Given the description of an element on the screen output the (x, y) to click on. 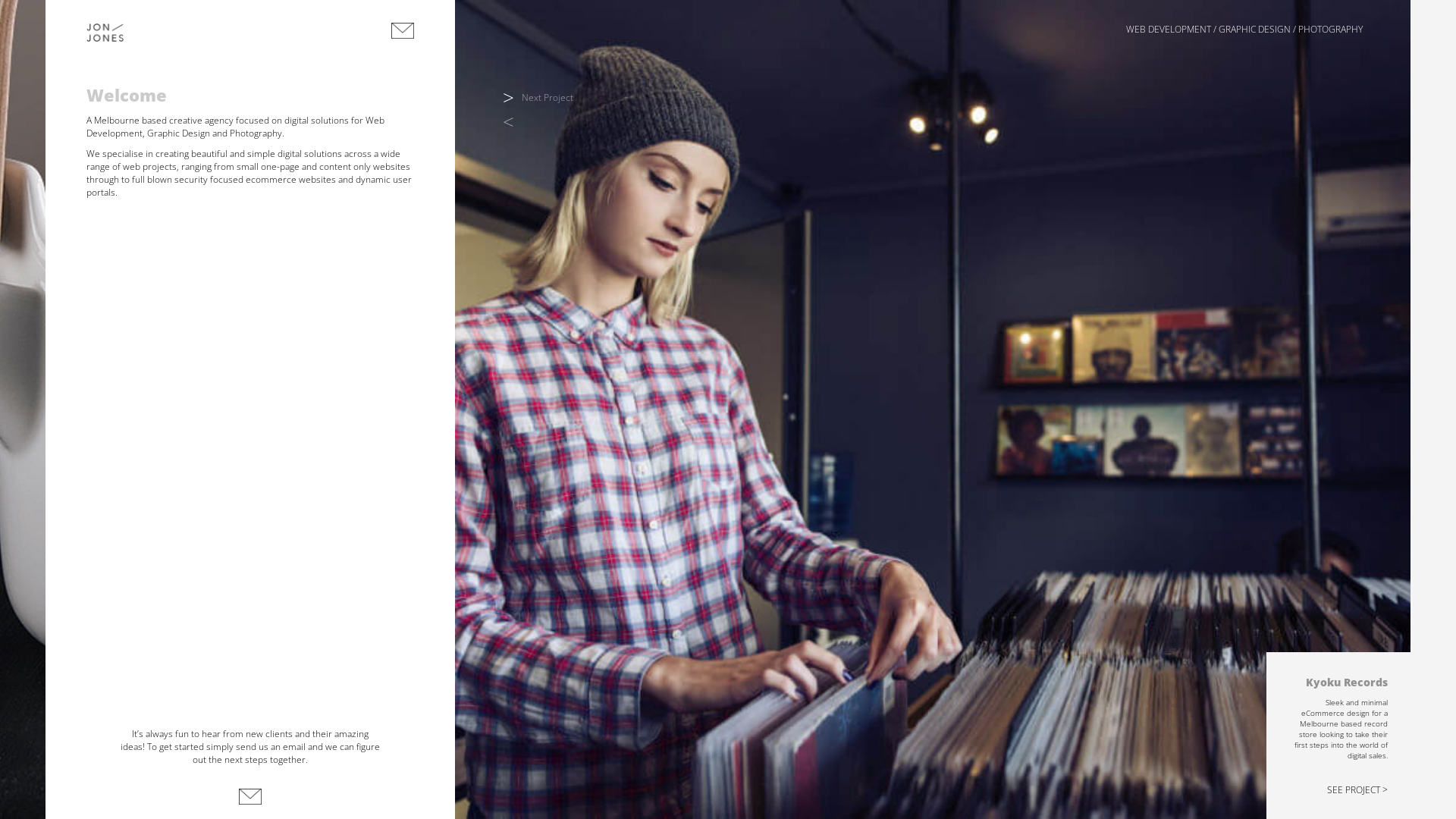
SEE PROJECT > Element type: text (1357, 789)
SEE PROJECT > Element type: text (401, 789)
